Given the description of an element on the screen output the (x, y) to click on. 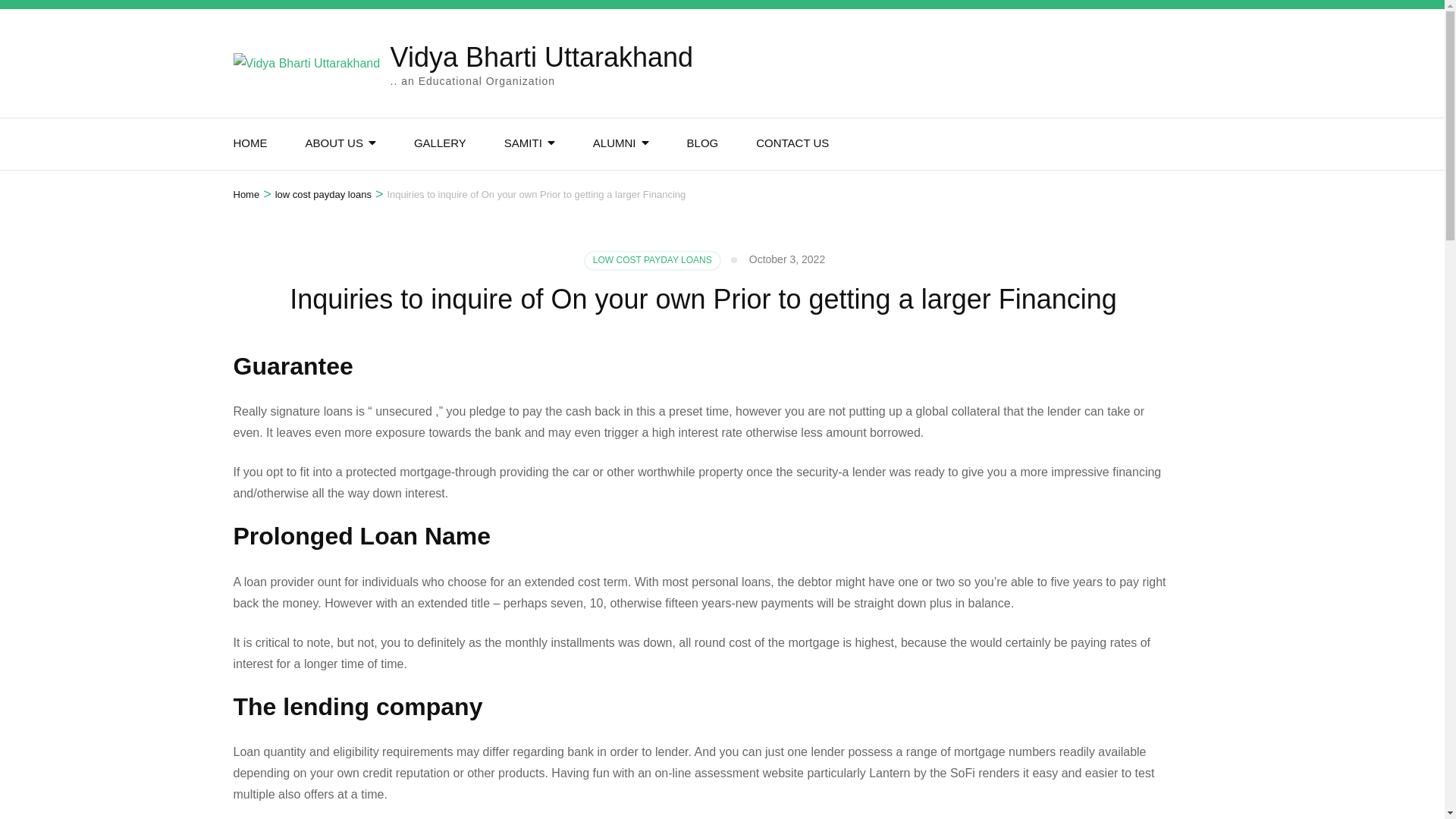
CONTACT US (791, 143)
ABOUT US (333, 143)
low cost payday loans (323, 194)
Home (246, 194)
LOW COST PAYDAY LOANS (651, 260)
Vidya Bharti Uttarakhand (542, 56)
GALLERY (439, 143)
